Given the description of an element on the screen output the (x, y) to click on. 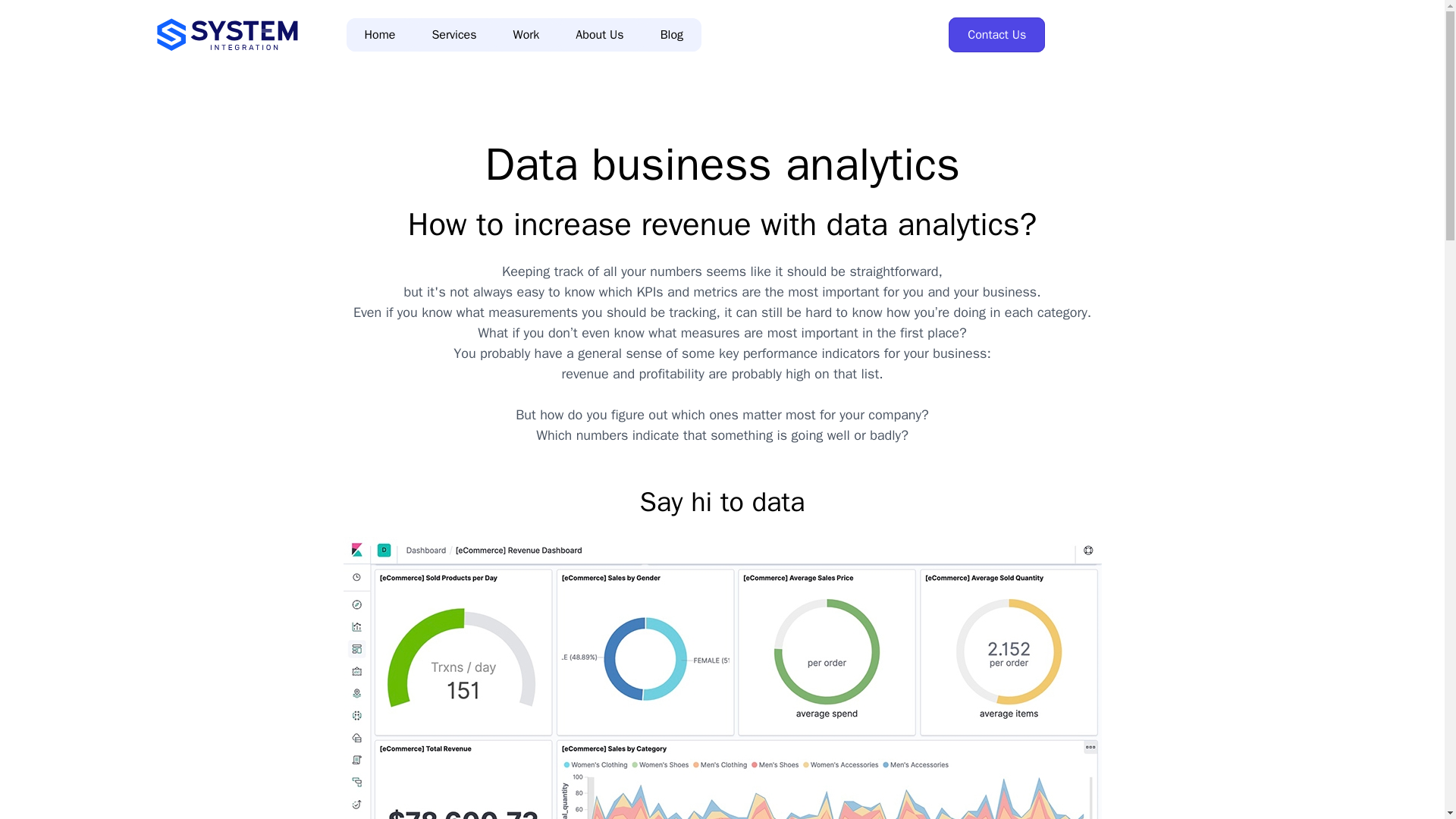
Home (379, 34)
Contact Us (997, 34)
Work (526, 34)
Blog (671, 34)
Services (453, 34)
About Us (599, 34)
